Given the description of an element on the screen output the (x, y) to click on. 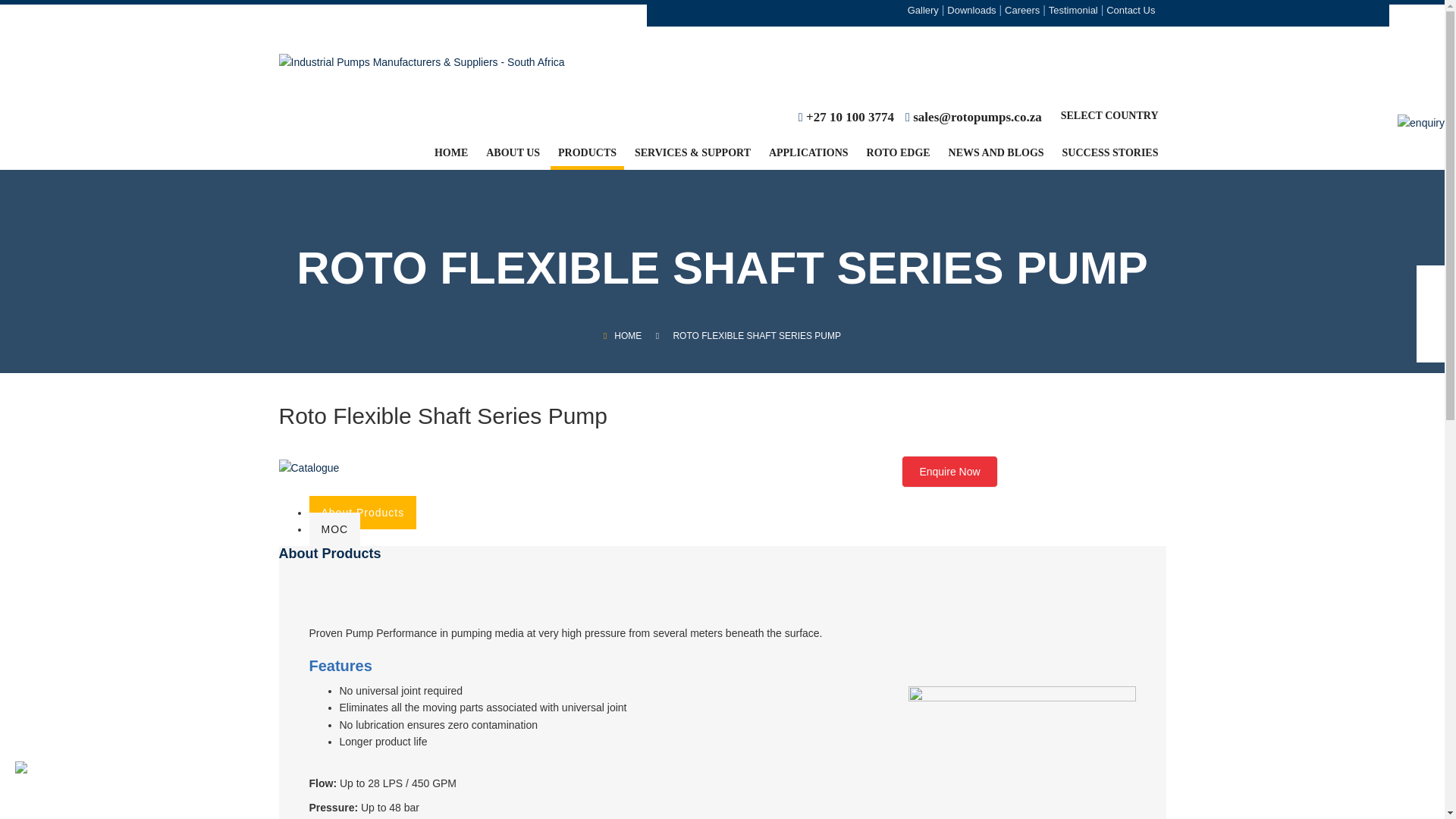
Downloads (971, 9)
SELECT COUNTRY (1109, 121)
PRODUCTS (586, 158)
Careers (1021, 9)
Gallery (923, 9)
HOME (450, 158)
Testimonial (1072, 9)
Contact Us (1130, 9)
ABOUT US (513, 158)
